Given the description of an element on the screen output the (x, y) to click on. 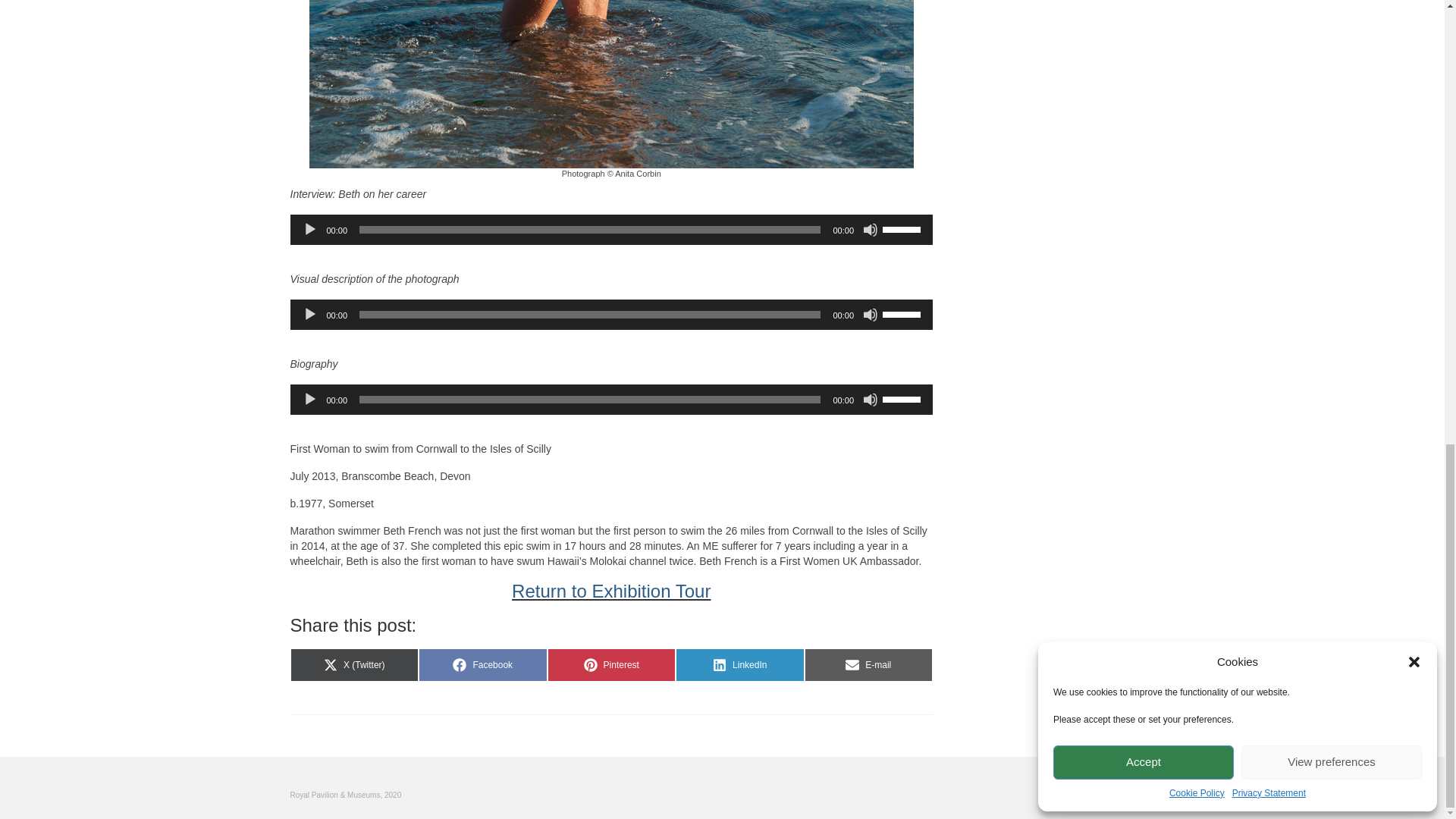
Mute (870, 229)
Play (309, 399)
Play (309, 314)
Mute (870, 314)
Return to Exhibition Tour (611, 590)
Play (309, 229)
Mute (870, 399)
